Given the description of an element on the screen output the (x, y) to click on. 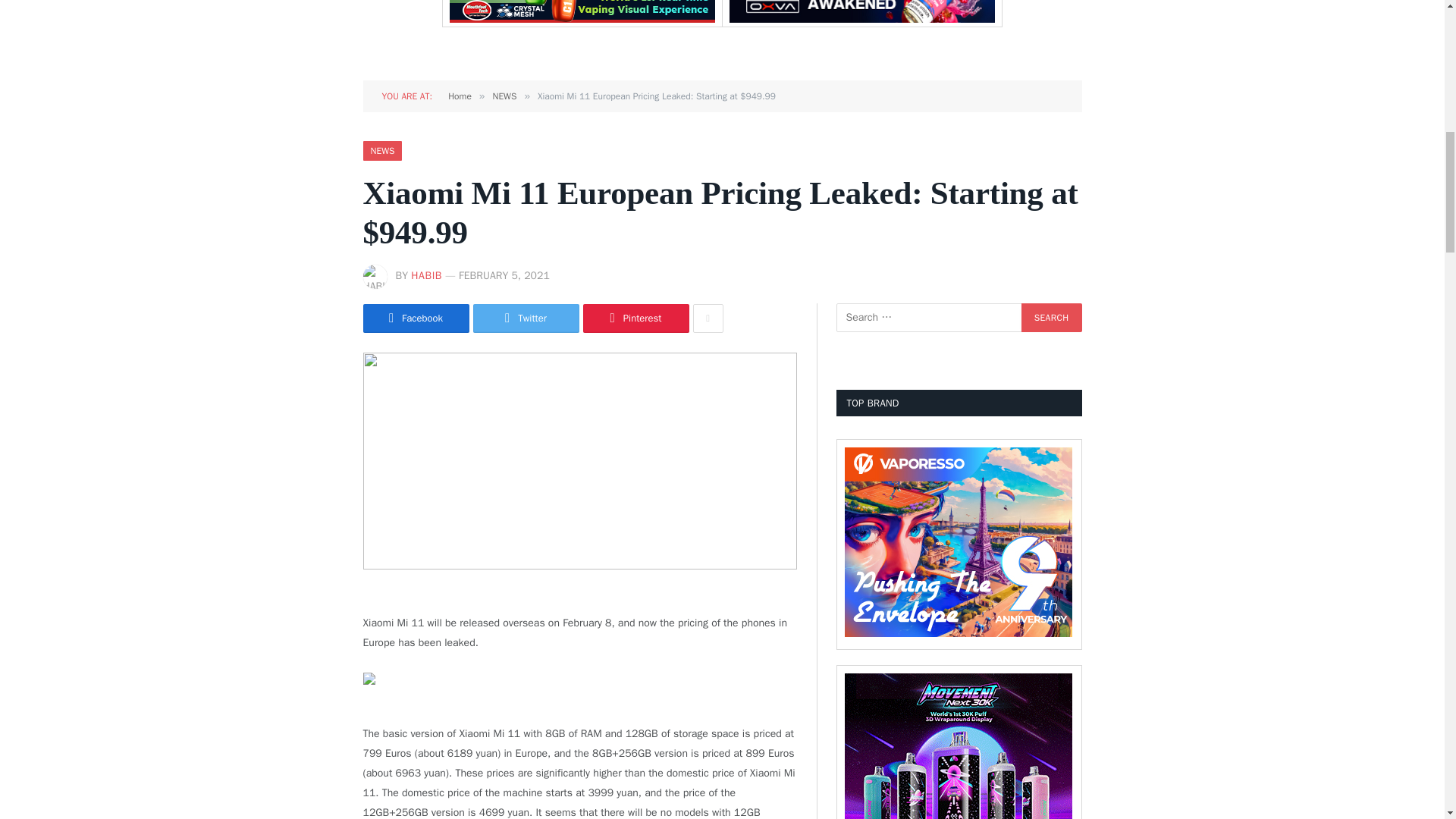
Search (1051, 317)
Search (1051, 317)
Share on Pinterest (635, 317)
Share on Facebook (415, 317)
Show More Social Sharing (708, 317)
Share on Twitter (526, 317)
Posts by Habib (426, 275)
